Given the description of an element on the screen output the (x, y) to click on. 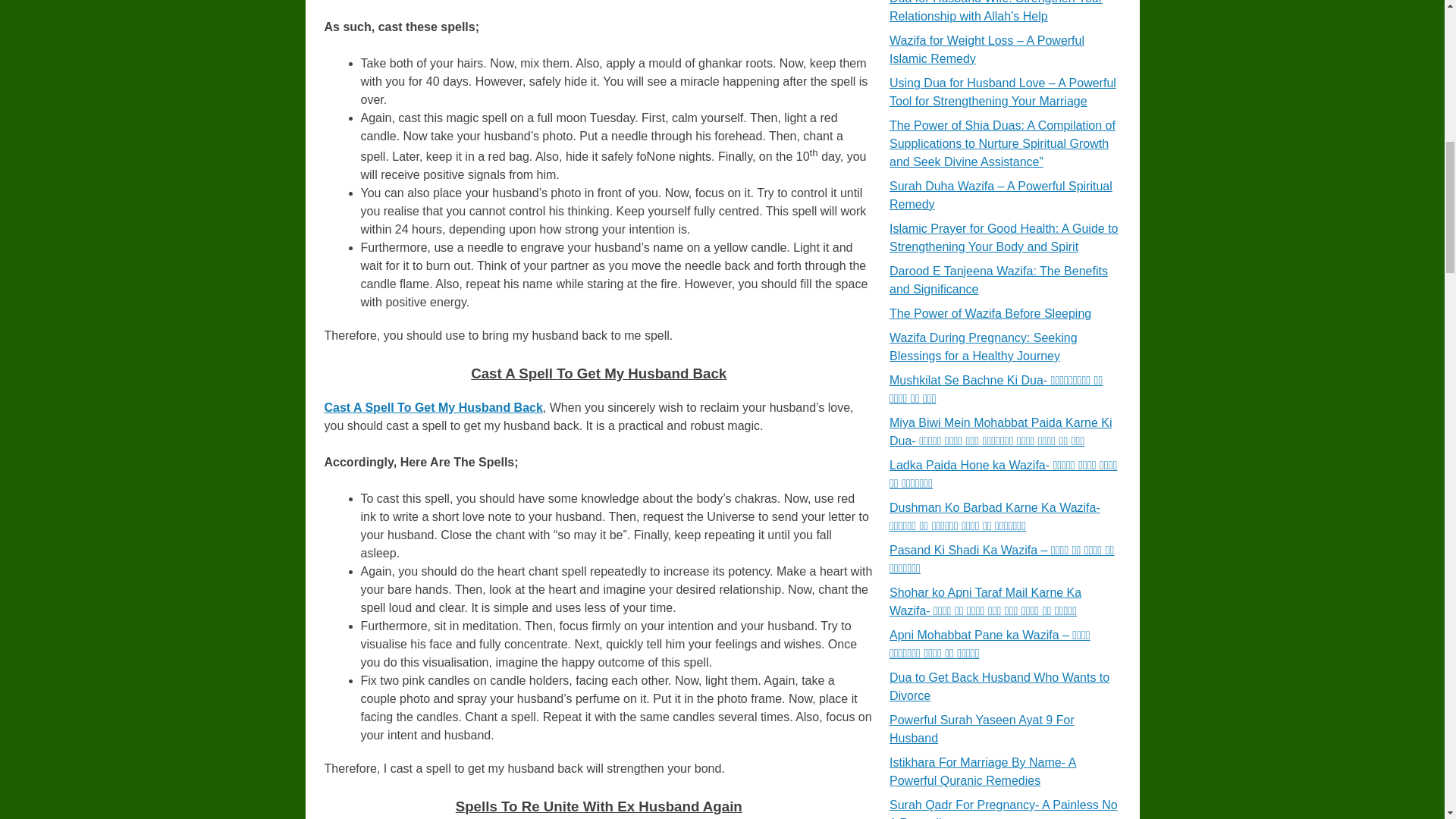
Cast A Spell To Get My Husband Back (433, 407)
